Given the description of an element on the screen output the (x, y) to click on. 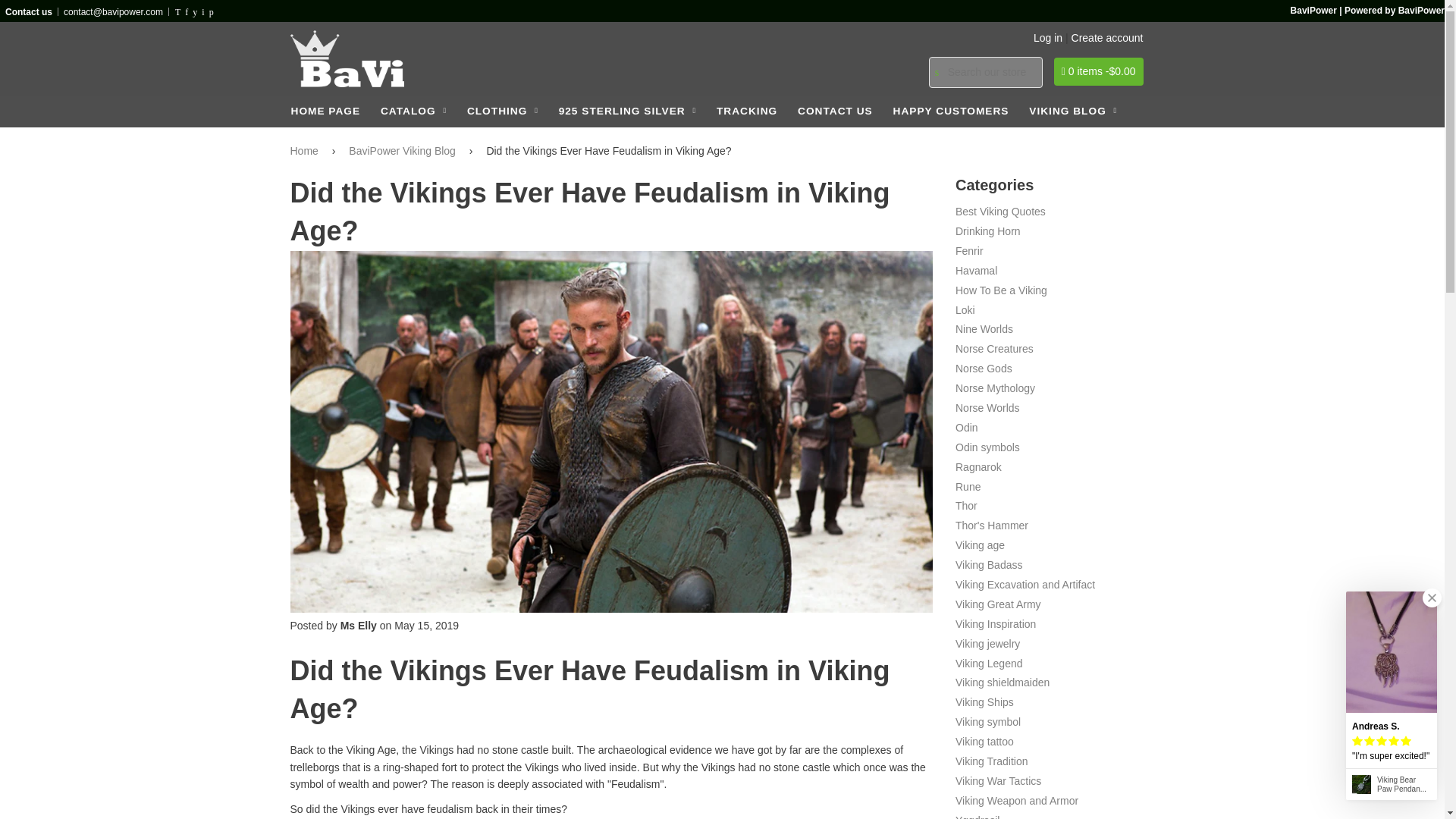
Contact us (29, 11)
Show articles tagged Havamal (976, 270)
Show articles tagged Loki (965, 309)
Show articles tagged Norse Creatures (994, 348)
Show articles tagged Norse Gods (983, 368)
Show articles tagged How To Be a Viking (1000, 290)
Back to the frontpage (306, 150)
Show articles tagged Best Viking Quotes (1000, 211)
Show articles tagged Fenrir (969, 250)
Show articles tagged Norse Mythology (995, 387)
Show articles tagged Drinking Horn (987, 231)
Show articles tagged Nine Worlds (984, 328)
